Given the description of an element on the screen output the (x, y) to click on. 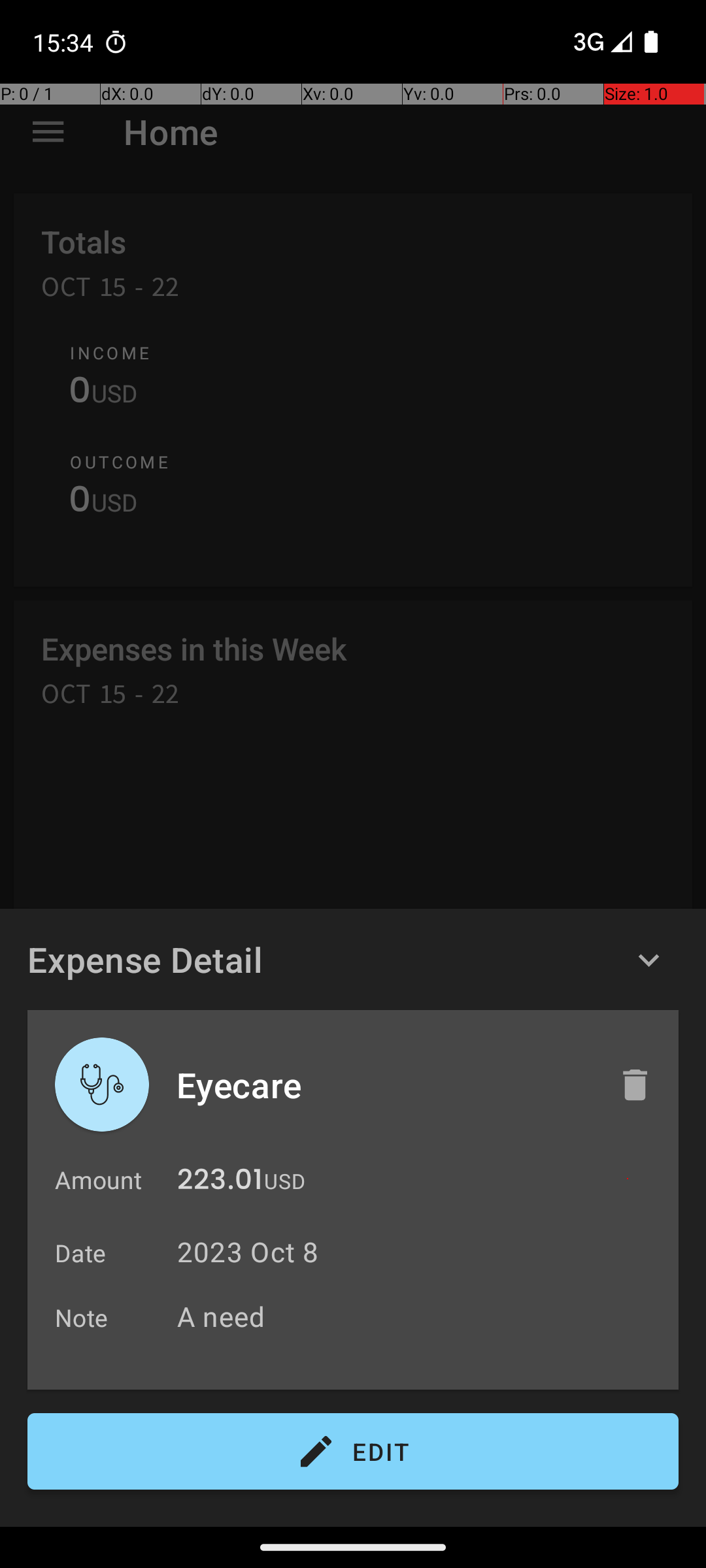
223.01 Element type: android.widget.TextView (219, 1182)
